Given the description of an element on the screen output the (x, y) to click on. 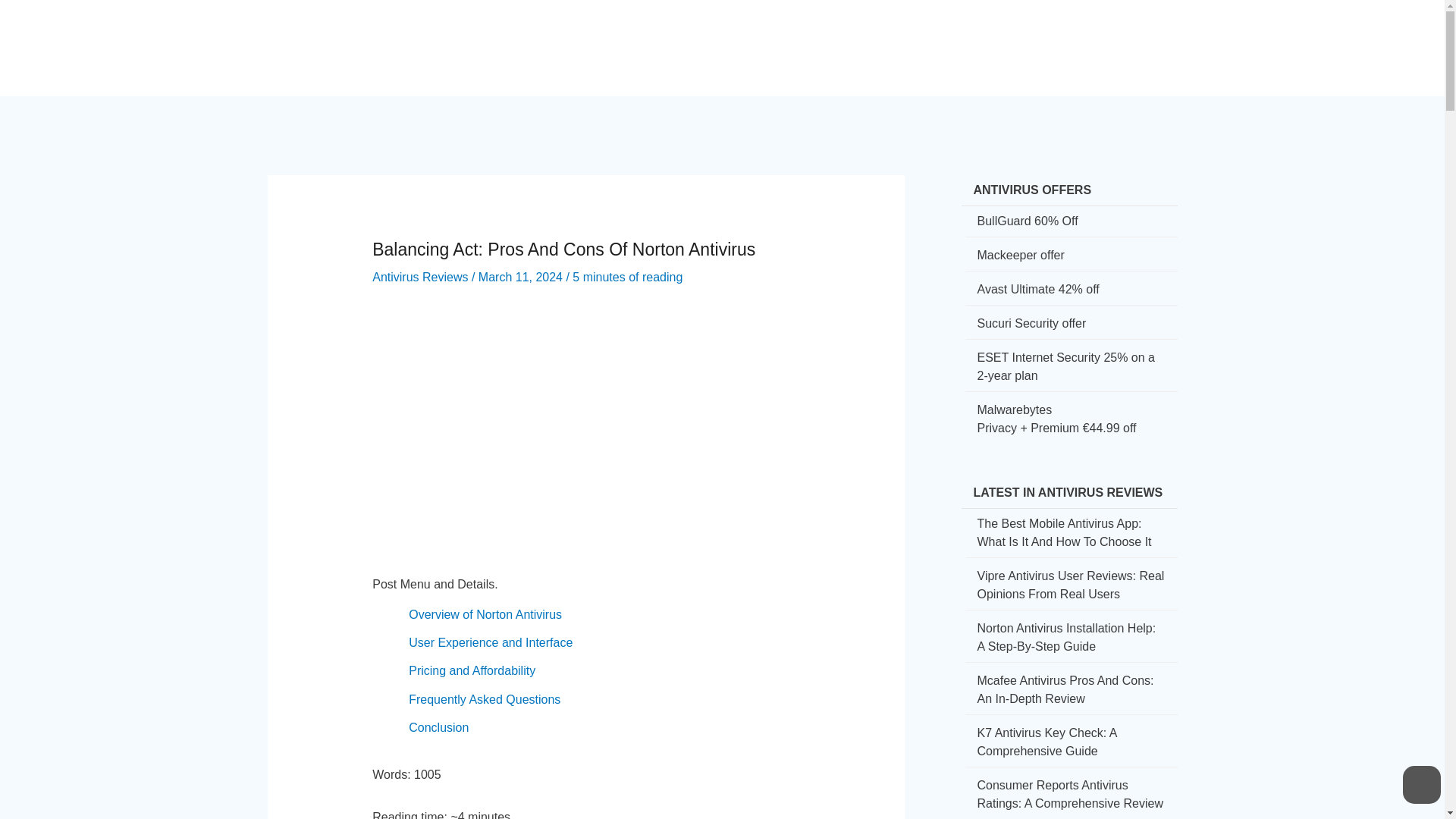
User Experience and Interface (490, 642)
Social (863, 35)
Antivirus Reviews (419, 277)
Cyber Security (713, 35)
Pricing and Affordability (472, 670)
Misc (1122, 35)
Gaming (999, 35)
Overview of Norton Antivirus (485, 614)
Finances (929, 35)
10 Best (1064, 35)
Conclusion (438, 727)
Frequently Asked Questions (484, 698)
How-To (802, 35)
